Given the description of an element on the screen output the (x, y) to click on. 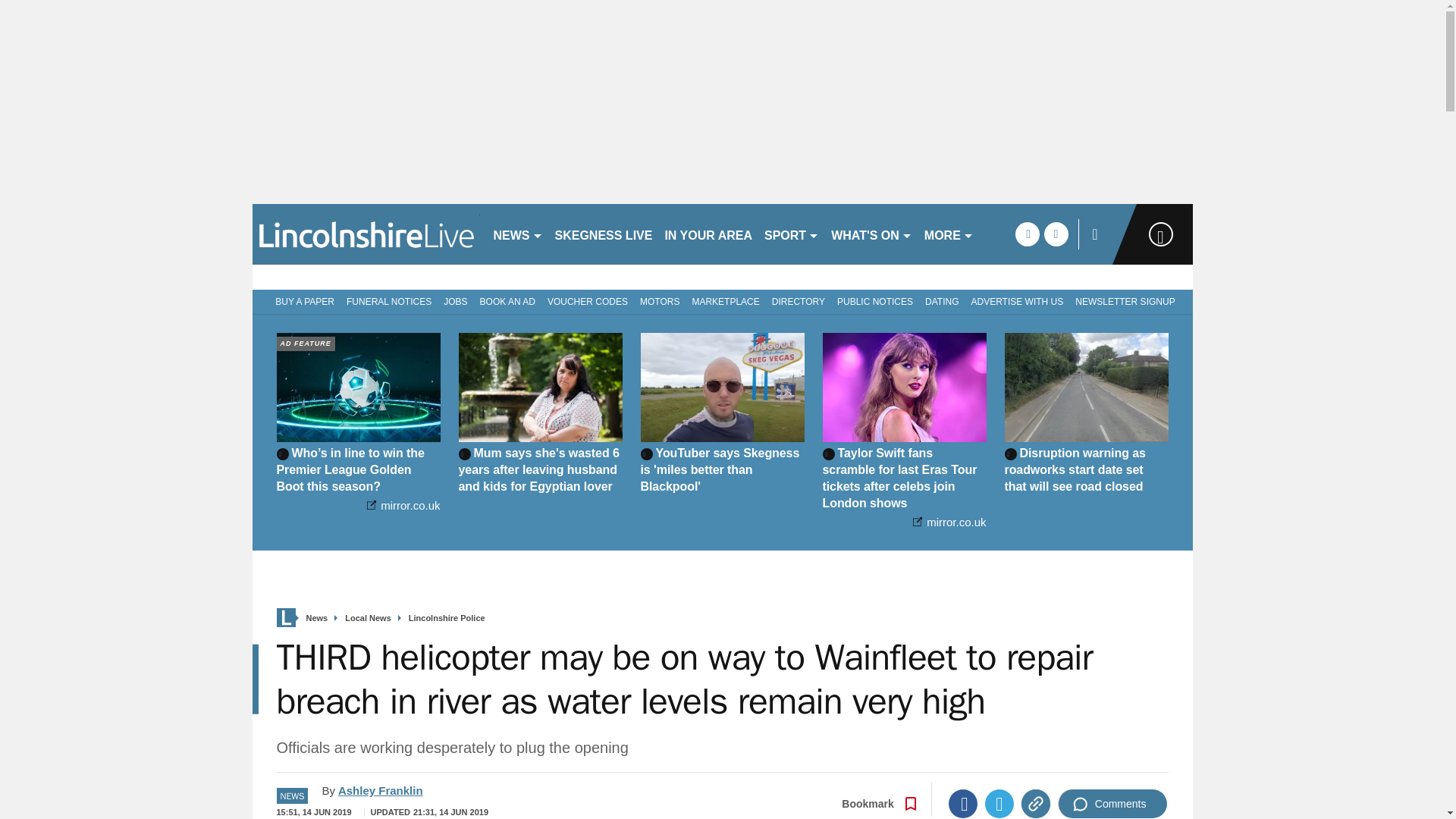
BUY A PAPER (301, 300)
lincolnshirelive (365, 233)
Comments (1112, 803)
NEWS (517, 233)
facebook (1026, 233)
Twitter (999, 803)
SPORT (791, 233)
Facebook (962, 803)
MORE (948, 233)
twitter (1055, 233)
